Given the description of an element on the screen output the (x, y) to click on. 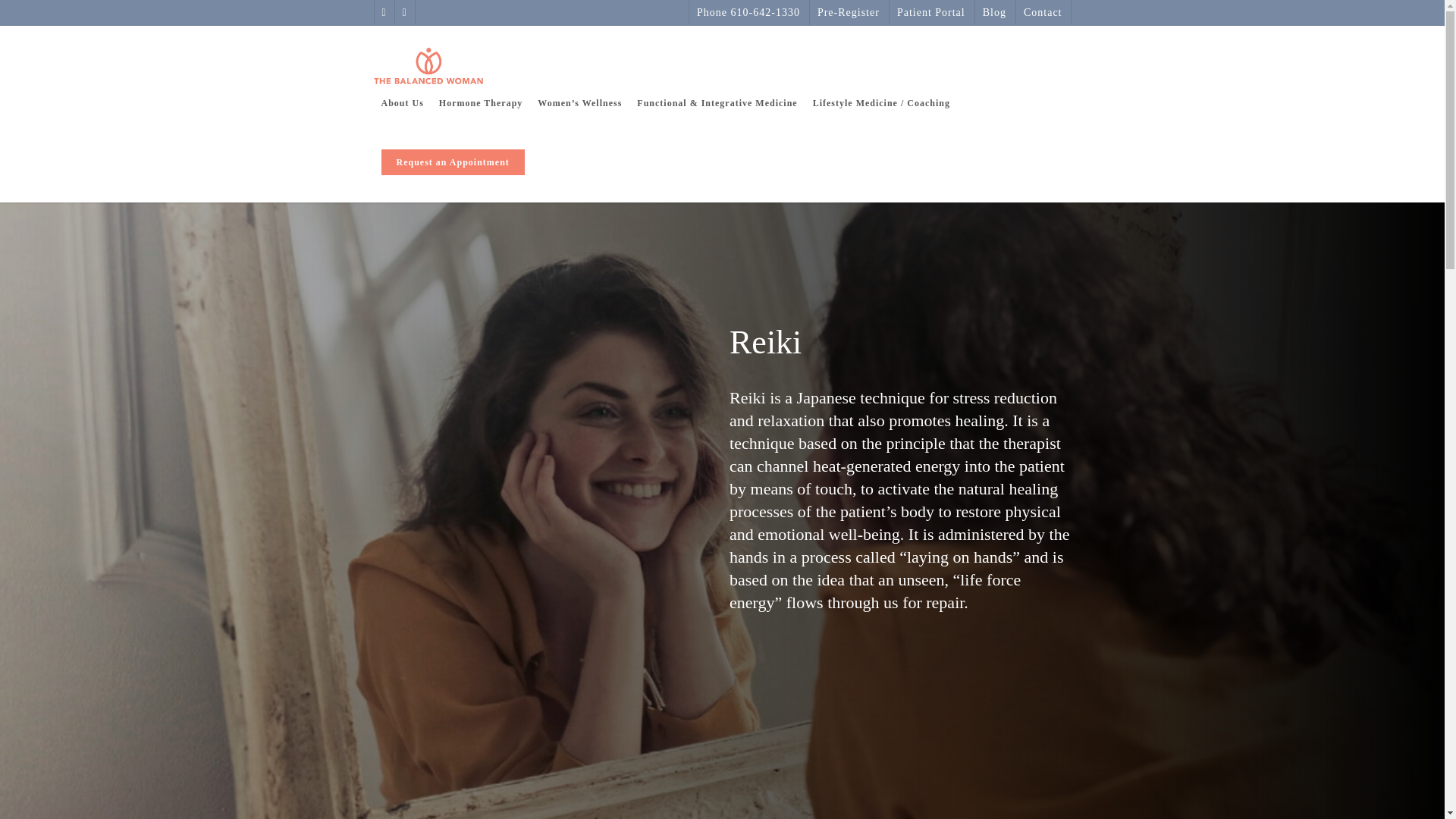
Contact (1042, 12)
Phone 610-642-1330 (748, 12)
Hormone Therapy (480, 113)
Pre-Register (847, 12)
Blog (993, 12)
Patient Portal (930, 12)
